Given the description of an element on the screen output the (x, y) to click on. 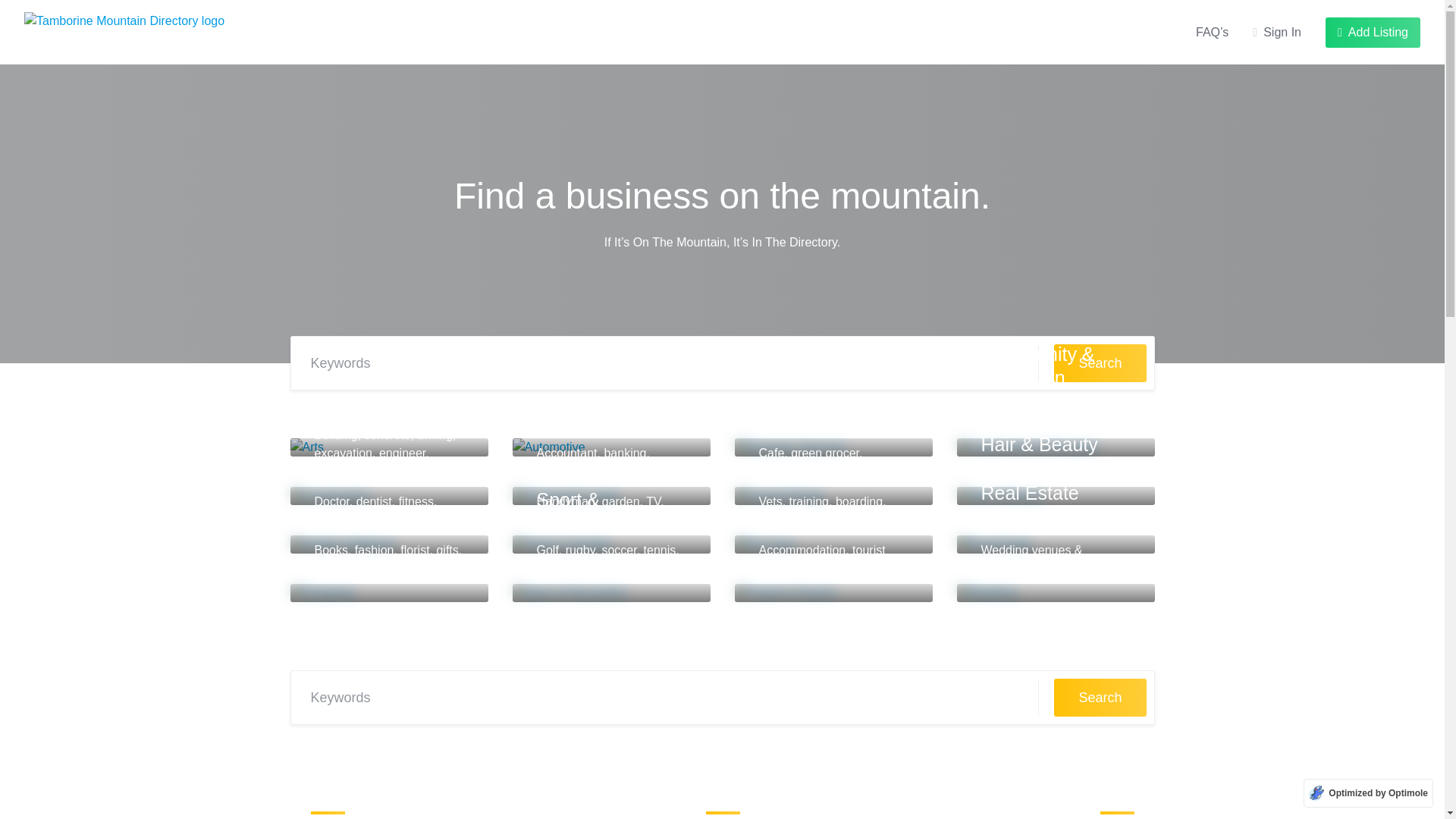
Shopping (354, 522)
Search (1099, 362)
Business Services (796, 365)
Arts (330, 377)
Add Listing (1372, 32)
Real Estate (1029, 492)
Construction (367, 407)
Automotive (584, 377)
Pet Care (795, 474)
Sign In (1276, 32)
